Given the description of an element on the screen output the (x, y) to click on. 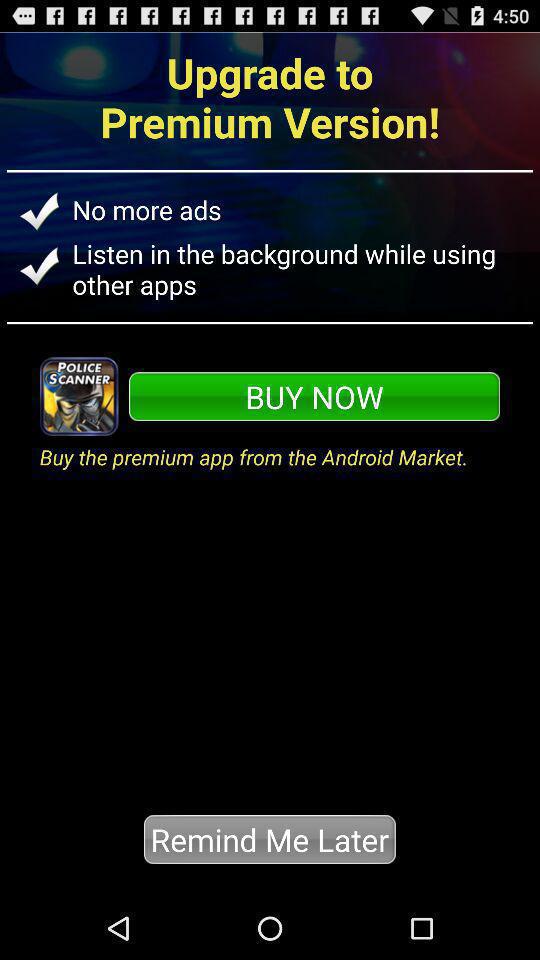
jump until the buy now button (314, 396)
